Given the description of an element on the screen output the (x, y) to click on. 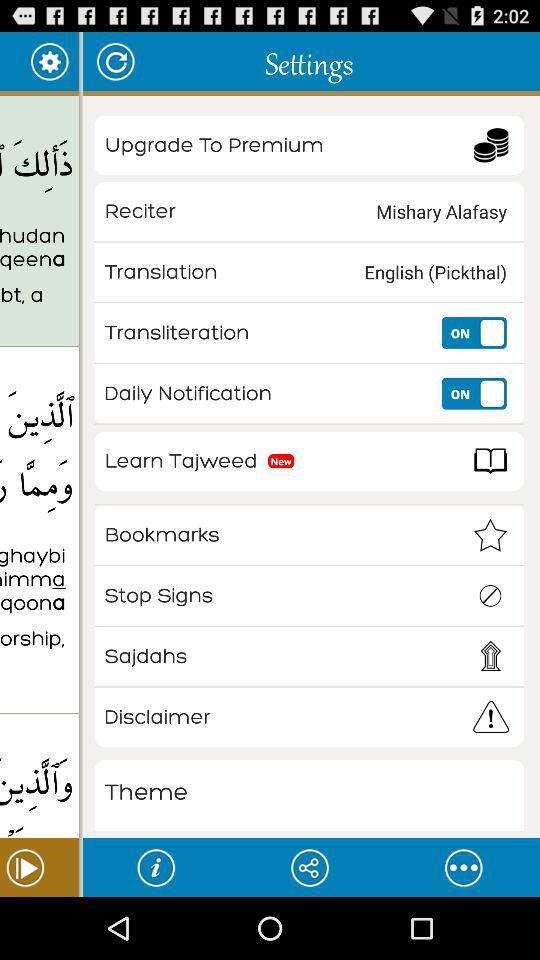
select the item next to settings icon (114, 60)
